Given the description of an element on the screen output the (x, y) to click on. 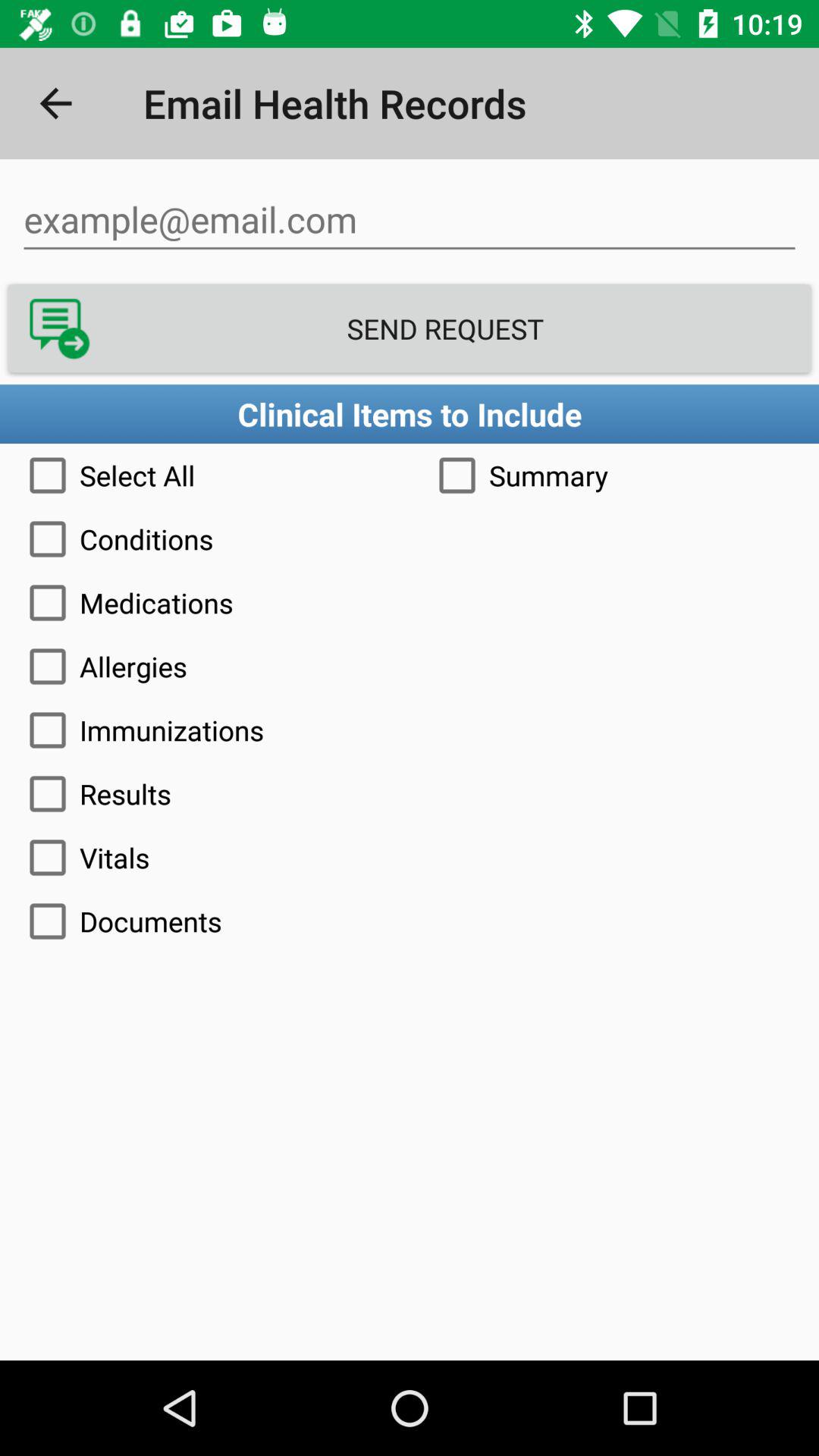
open the item below the clinical items to icon (204, 475)
